Given the description of an element on the screen output the (x, y) to click on. 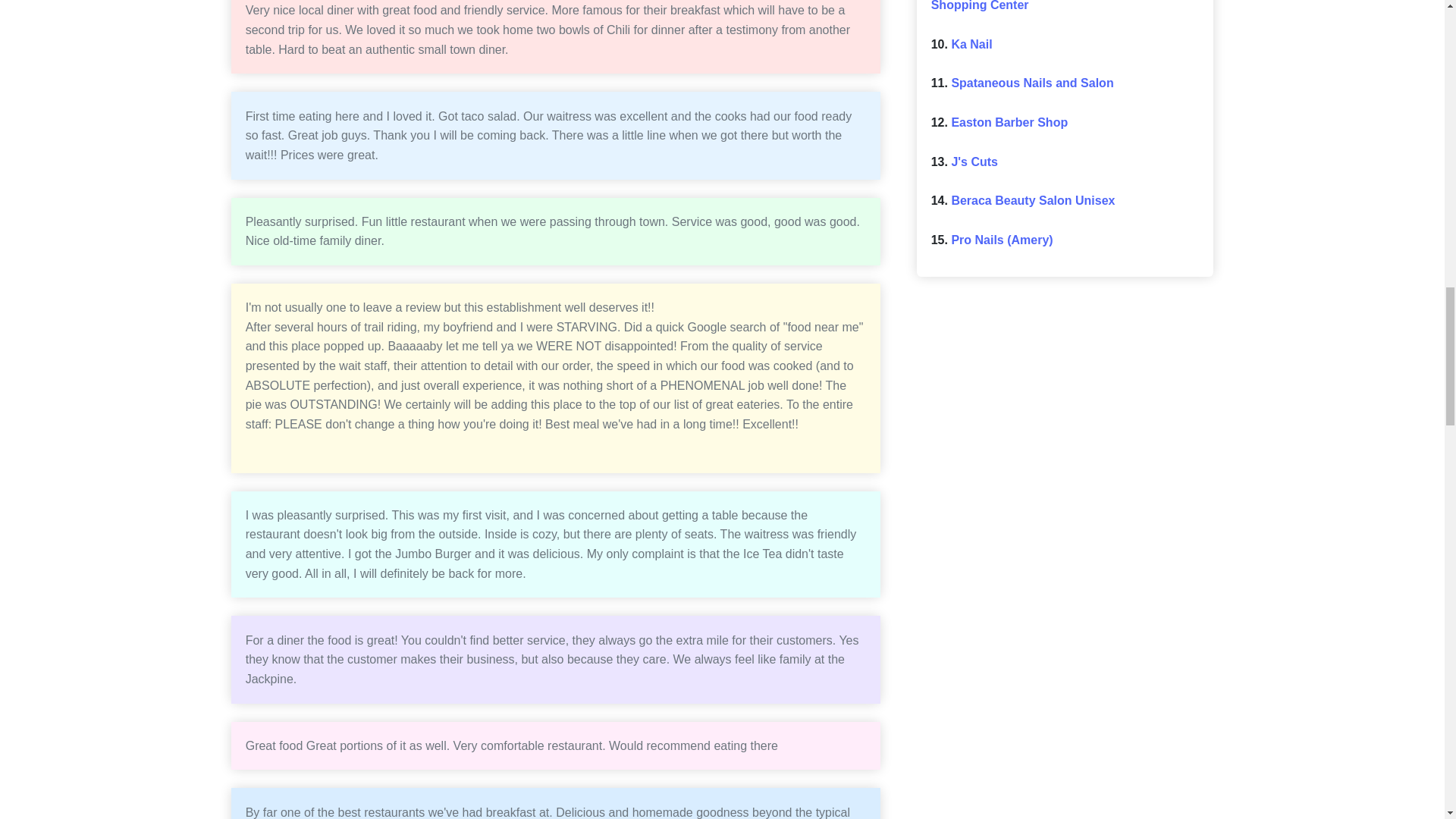
J's Cuts (973, 161)
Beraca Beauty Salon Unisex (1032, 200)
Easton Barber Shop (1008, 122)
Spataneous Nails and Salon (1031, 82)
Ka Nail (970, 43)
Market Square at Mississippi and Havana Shopping Center (1056, 6)
